Given the description of an element on the screen output the (x, y) to click on. 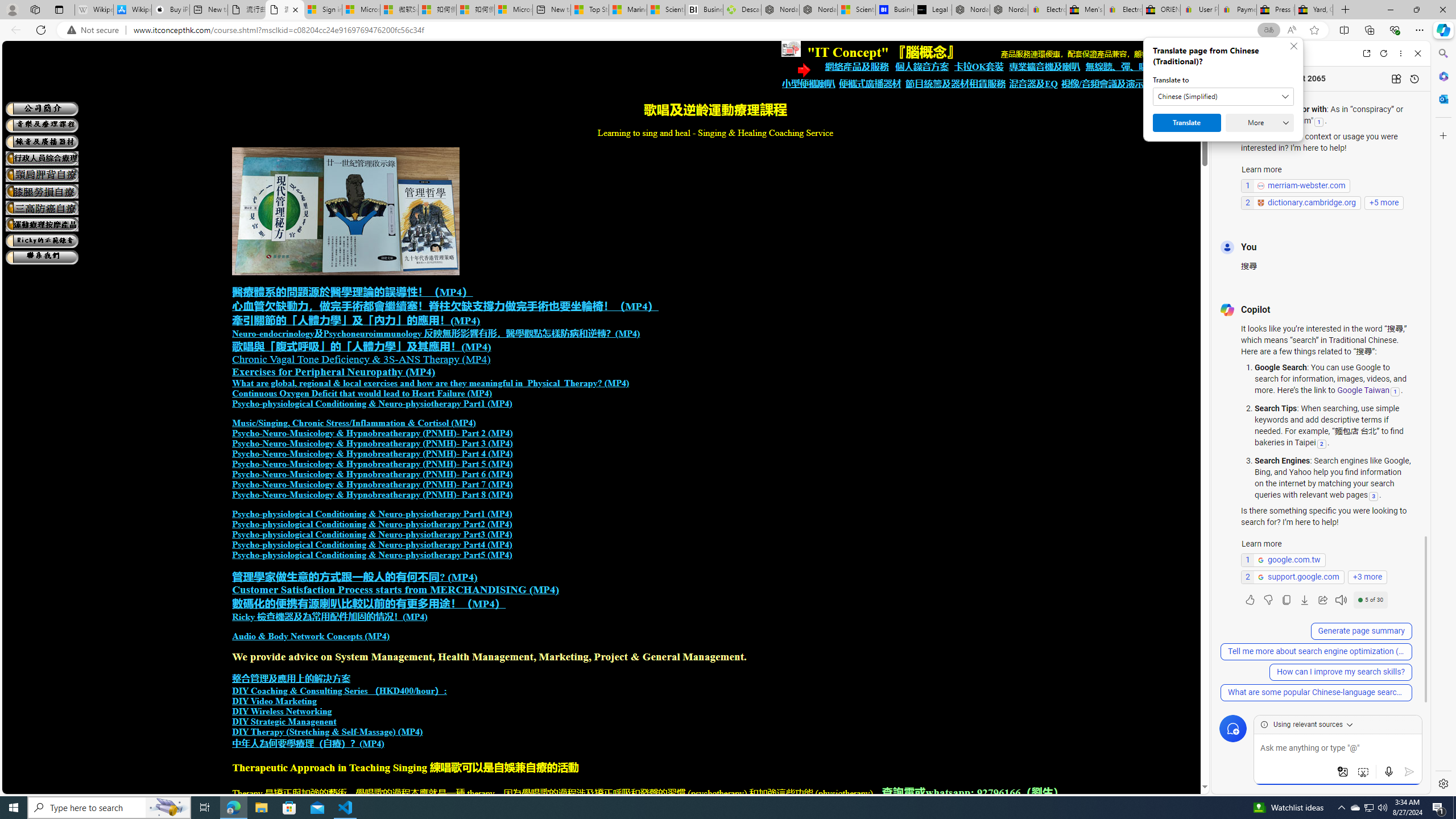
Exercises for Peripheral Neuropathy (MP4) (333, 372)
Minimize Search pane (1442, 53)
Music/Singing, Chronic Stress/Inflammation & Cortisol (MP4) (353, 422)
Translate (1187, 122)
